Given the description of an element on the screen output the (x, y) to click on. 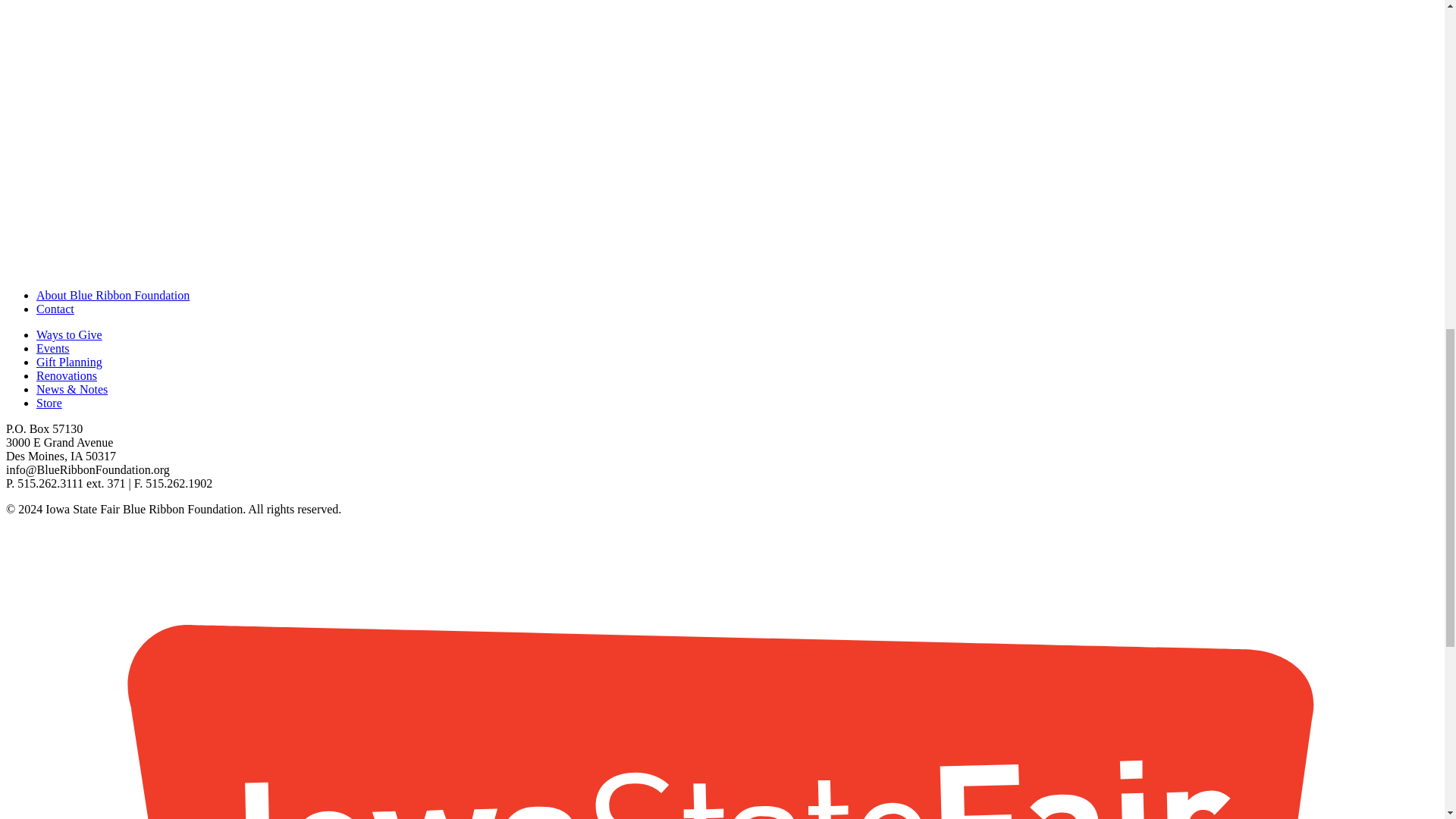
Store (49, 402)
Contact (55, 308)
Renovations (66, 375)
Gift Planning (68, 361)
Ways to Give (68, 334)
About Blue Ribbon Foundation (112, 295)
Events (52, 348)
